Given the description of an element on the screen output the (x, y) to click on. 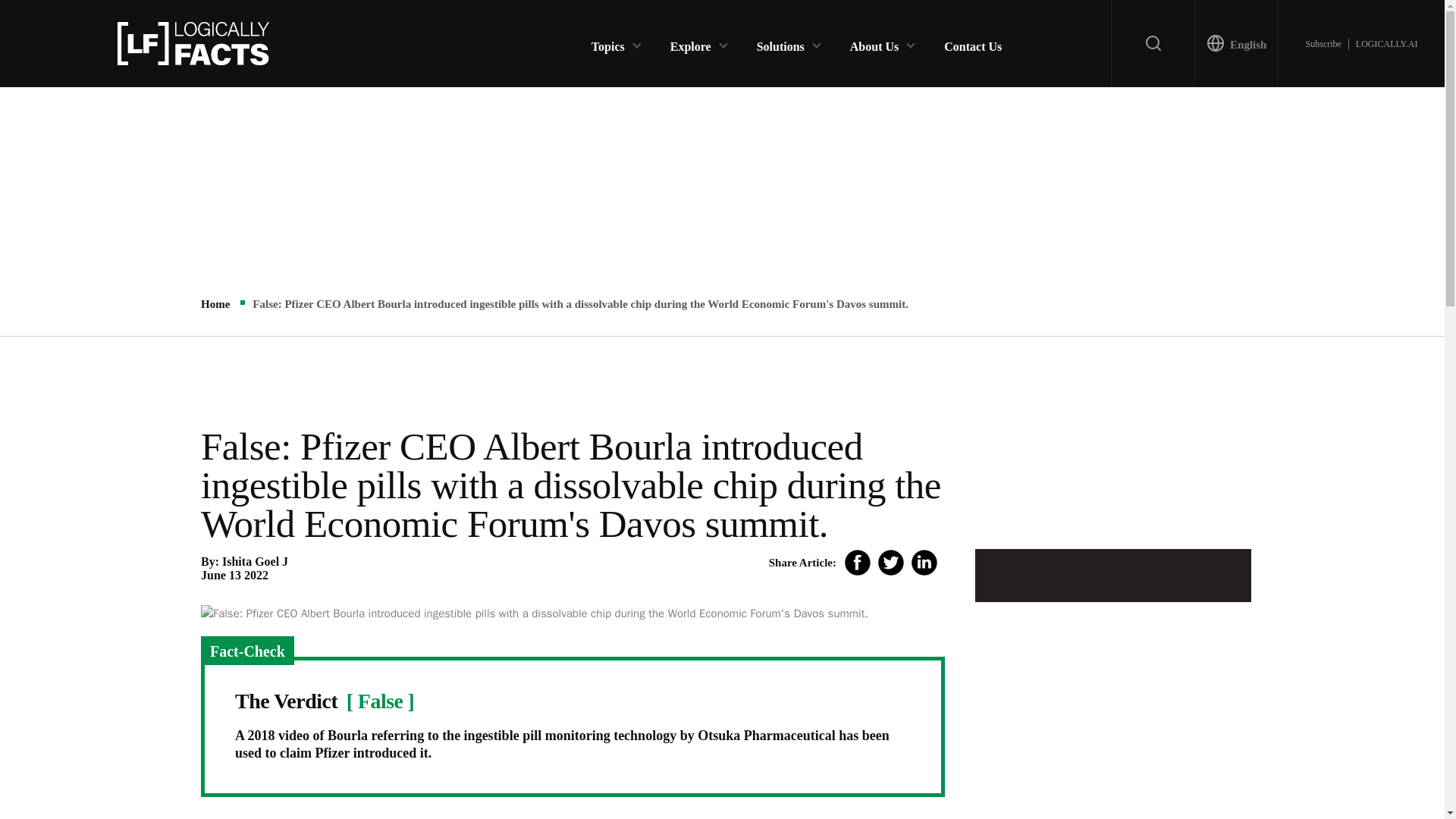
About Us (874, 43)
LOGICALLY.AI (1386, 43)
Solutions (781, 43)
Subscribe (1323, 43)
Explore (690, 43)
Contact Us (972, 43)
Topics (607, 43)
Home (215, 304)
